Given the description of an element on the screen output the (x, y) to click on. 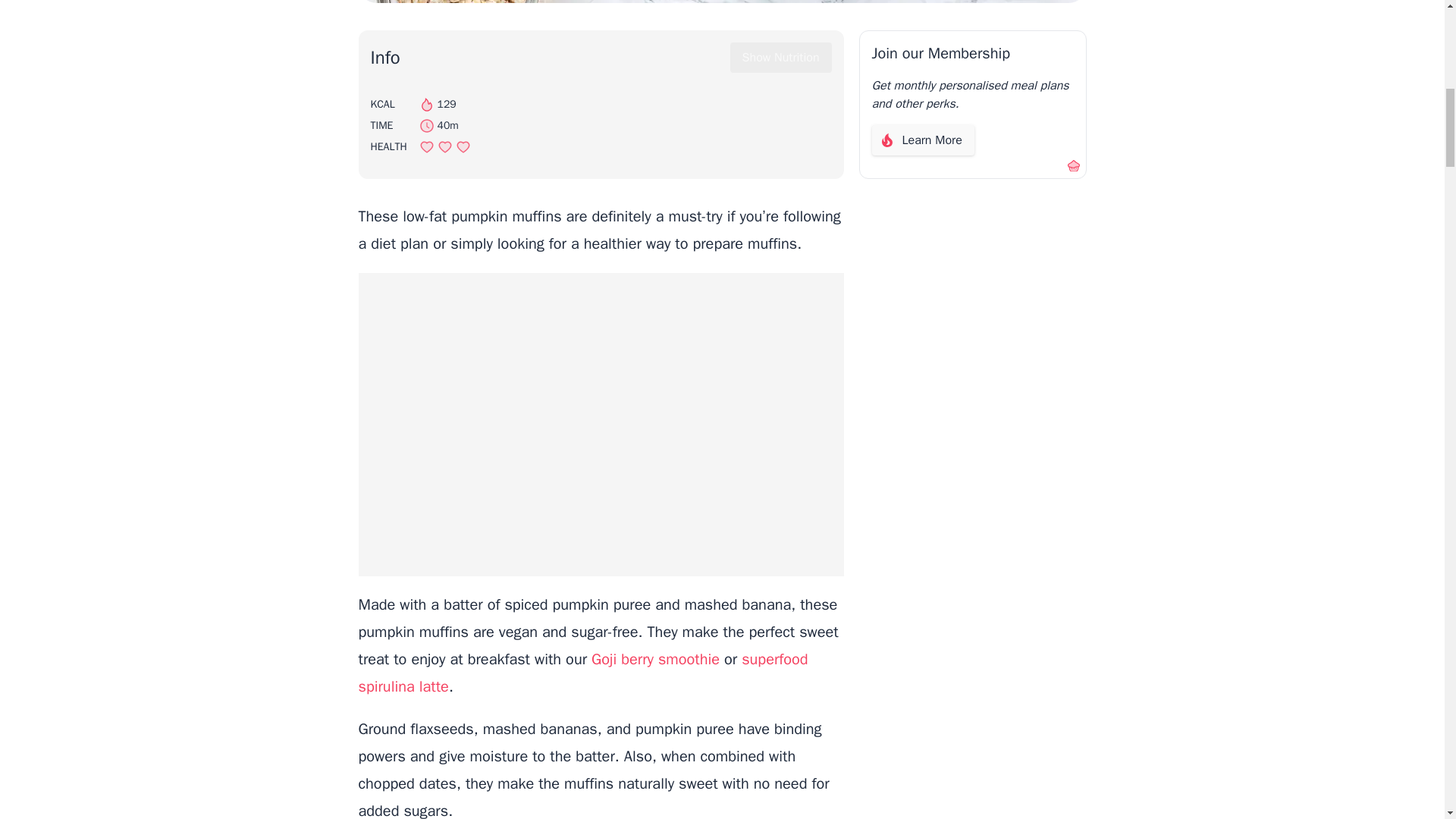
superfood spirulina latte (583, 673)
Goji berry smoothie (655, 659)
Show Nutrition (780, 57)
